Given the description of an element on the screen output the (x, y) to click on. 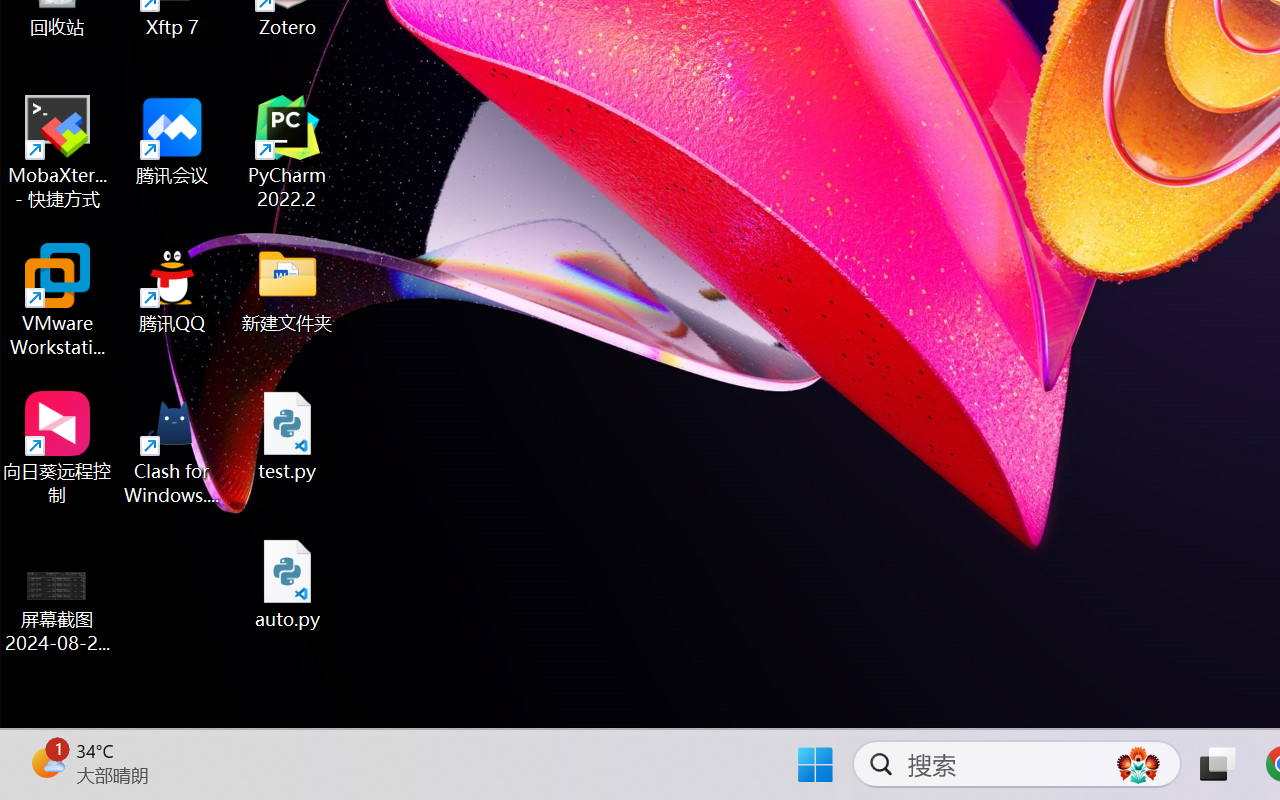
test.py (287, 436)
